Given the description of an element on the screen output the (x, y) to click on. 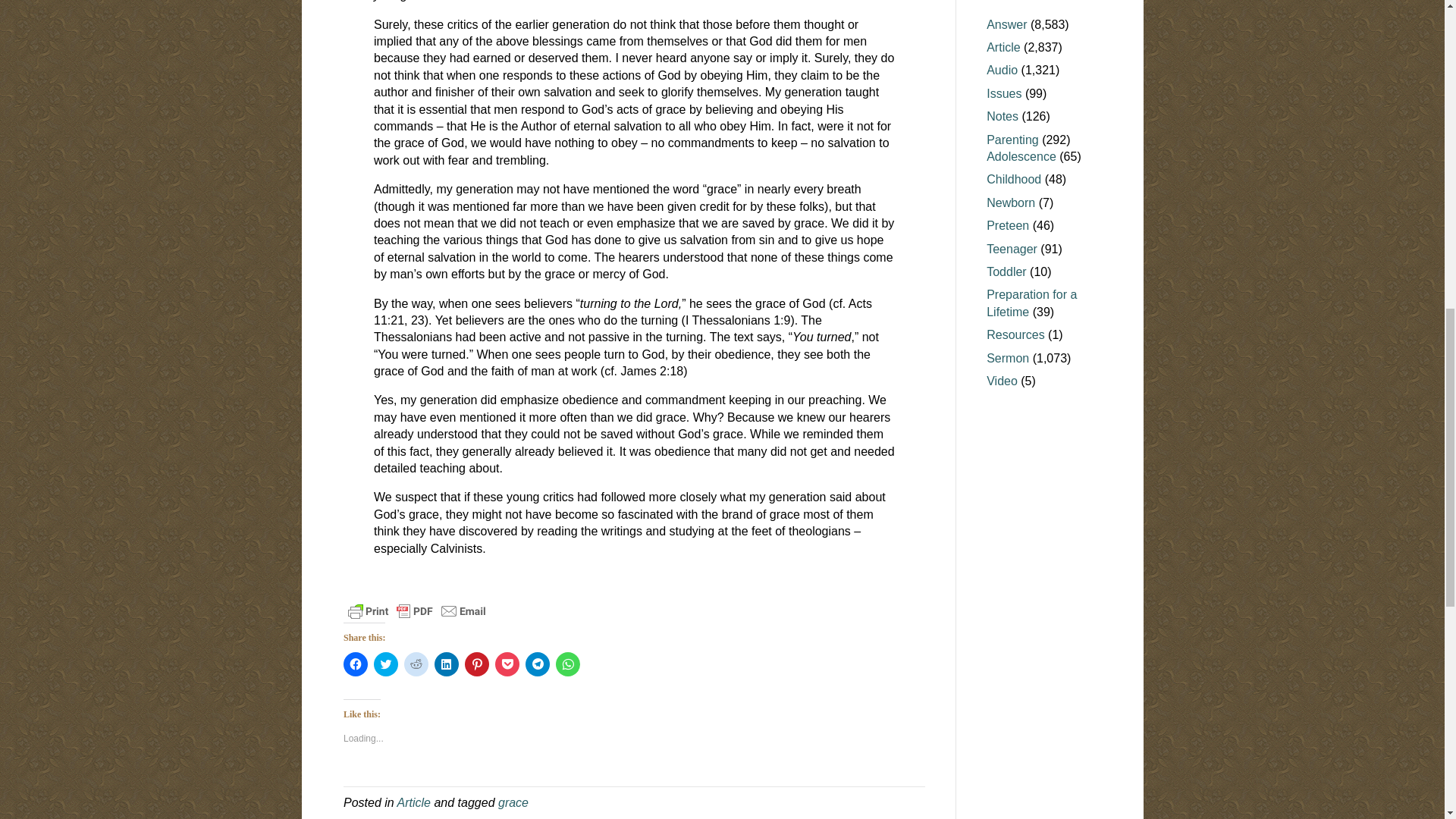
Click to share on Pocket (507, 663)
Click to share on LinkedIn (445, 663)
Click to share on Reddit (416, 663)
Click to share on Pinterest (476, 663)
Click to share on Twitter (385, 663)
Click to share on Facebook (355, 663)
Click to share on WhatsApp (567, 663)
Click to share on Telegram (537, 663)
